Given the description of an element on the screen output the (x, y) to click on. 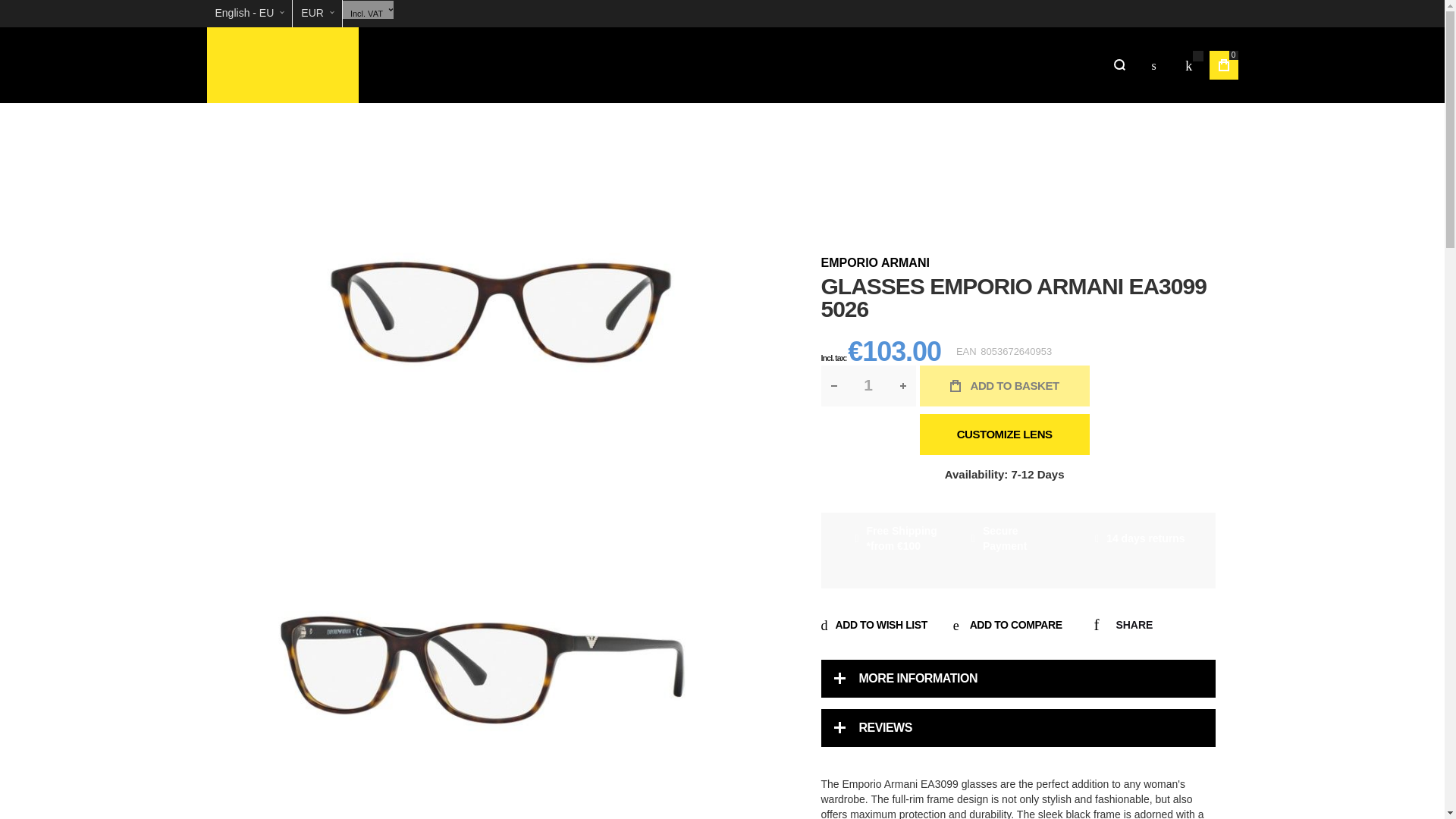
Qty (868, 385)
GLASSES (499, 64)
SUNGLASSES (419, 64)
1 (868, 385)
MR Sunglass (282, 65)
Add to Basket (1003, 385)
